Given the description of an element on the screen output the (x, y) to click on. 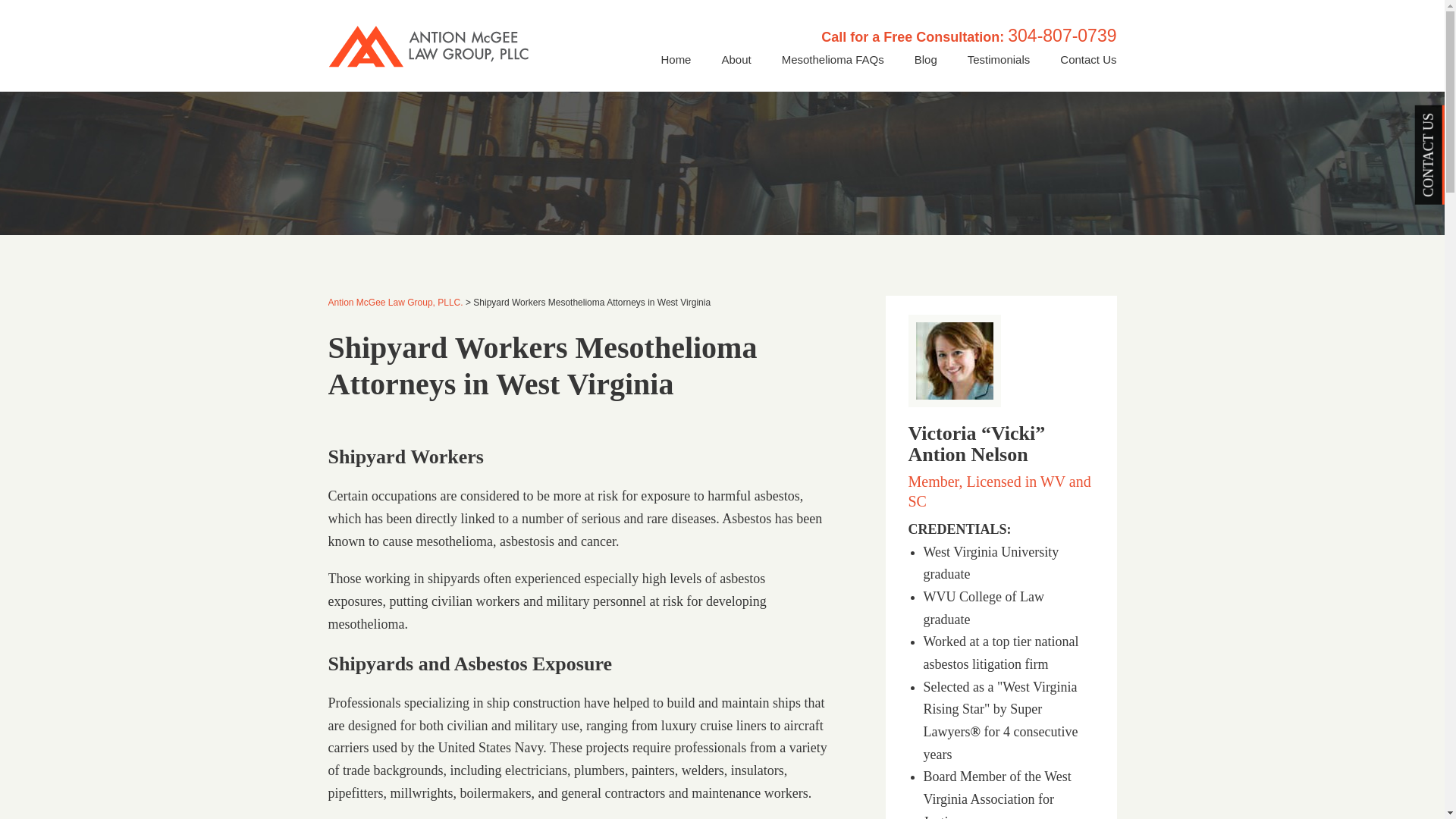
About (735, 59)
Blog (925, 59)
304-807-0739 (1061, 35)
Contact Us (1088, 59)
Home (675, 59)
Testimonials (998, 59)
Mesothelioma FAQs (833, 59)
Antion McGee Law Group, PLLC. (395, 302)
Go to Antion McGee Law Group, PLLC.. (395, 302)
